Given the description of an element on the screen output the (x, y) to click on. 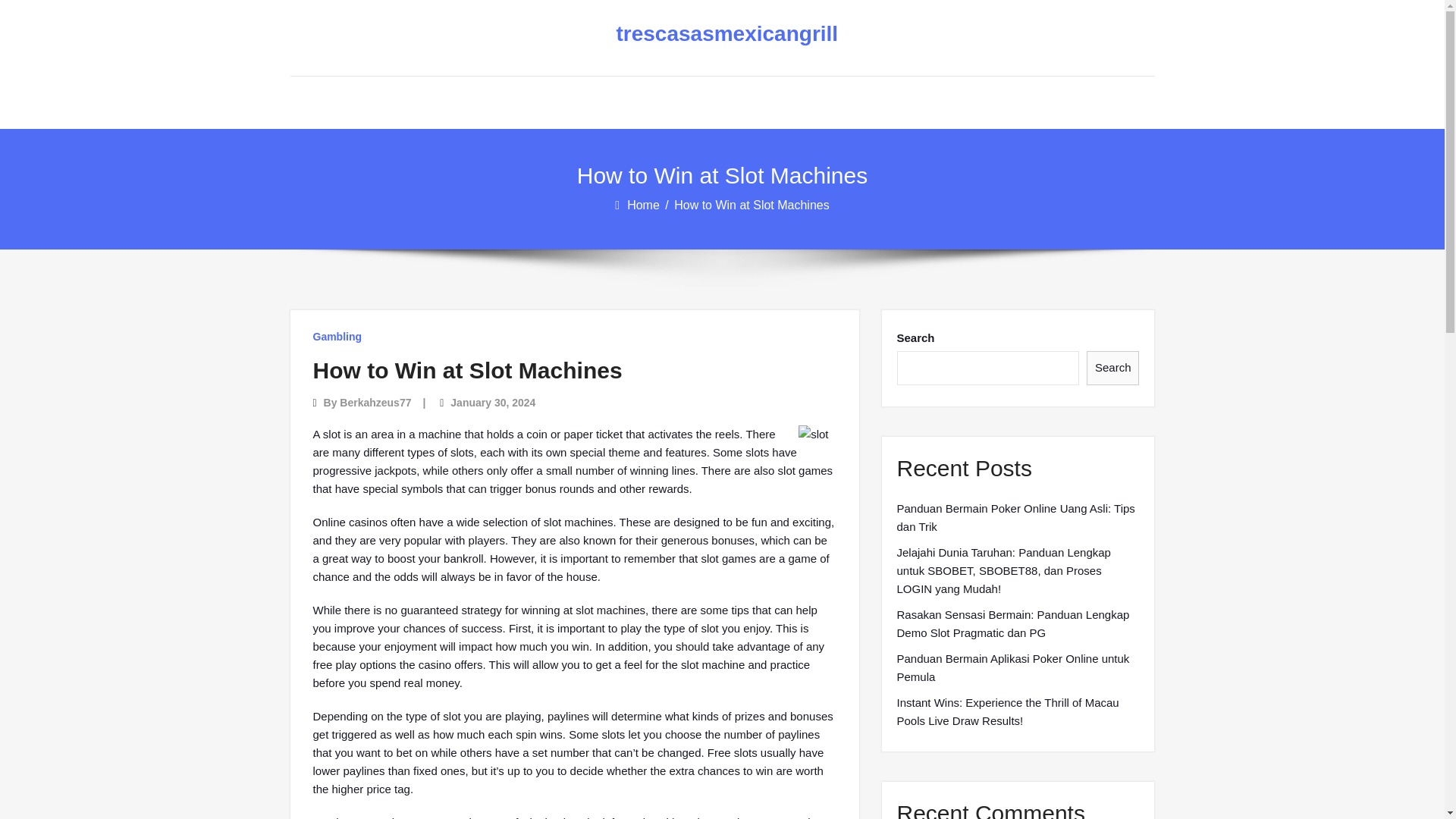
Search (1113, 367)
Berkahzeus77 (374, 402)
Gambling (337, 336)
trescasasmexicangrill (710, 34)
Panduan Bermain Poker Online Uang Asli: Tips dan Trik (1017, 517)
Home (644, 205)
Panduan Bermain Aplikasi Poker Online untuk Pemula (1017, 668)
